Given the description of an element on the screen output the (x, y) to click on. 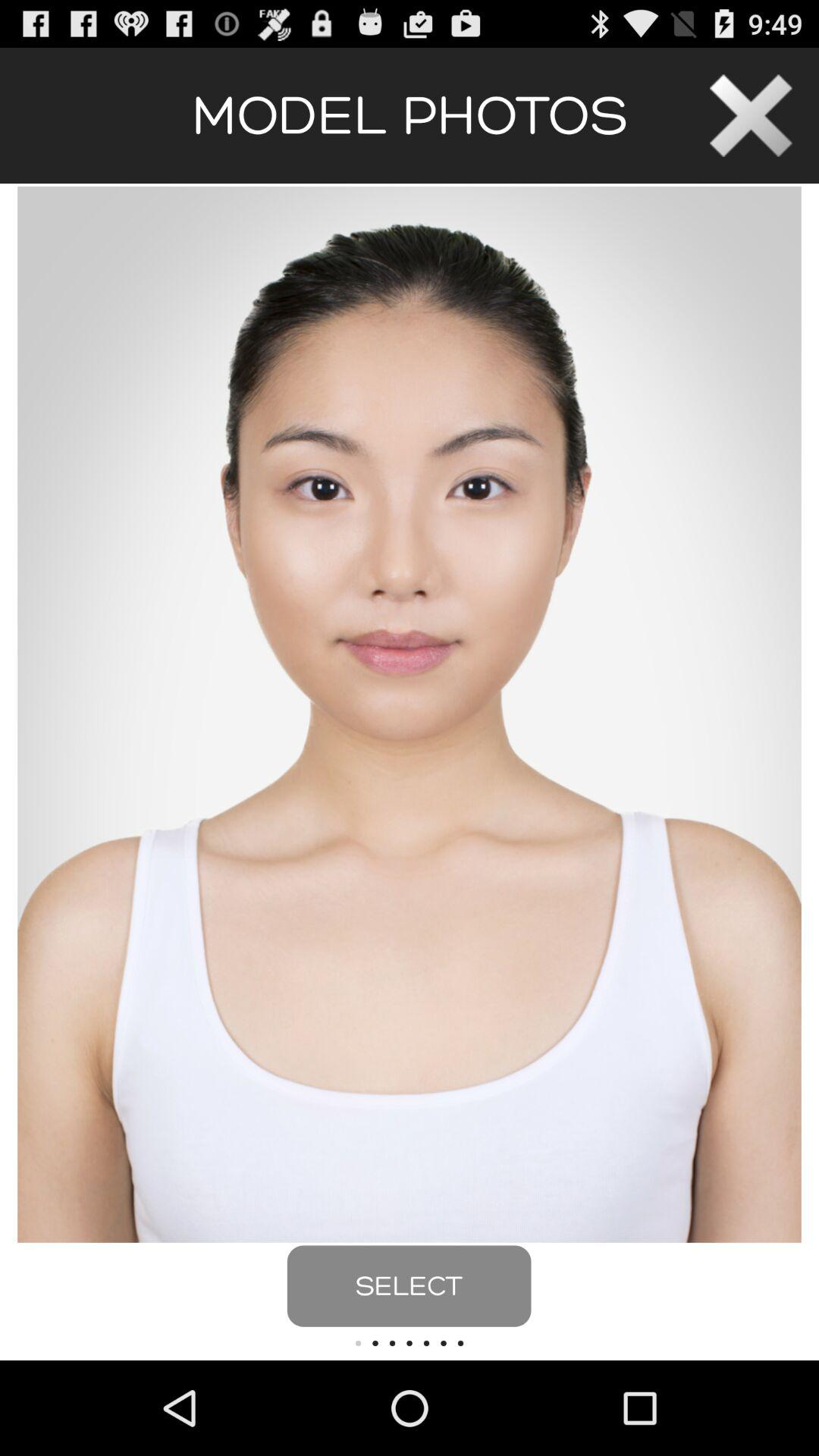
close mark (751, 115)
